Given the description of an element on the screen output the (x, y) to click on. 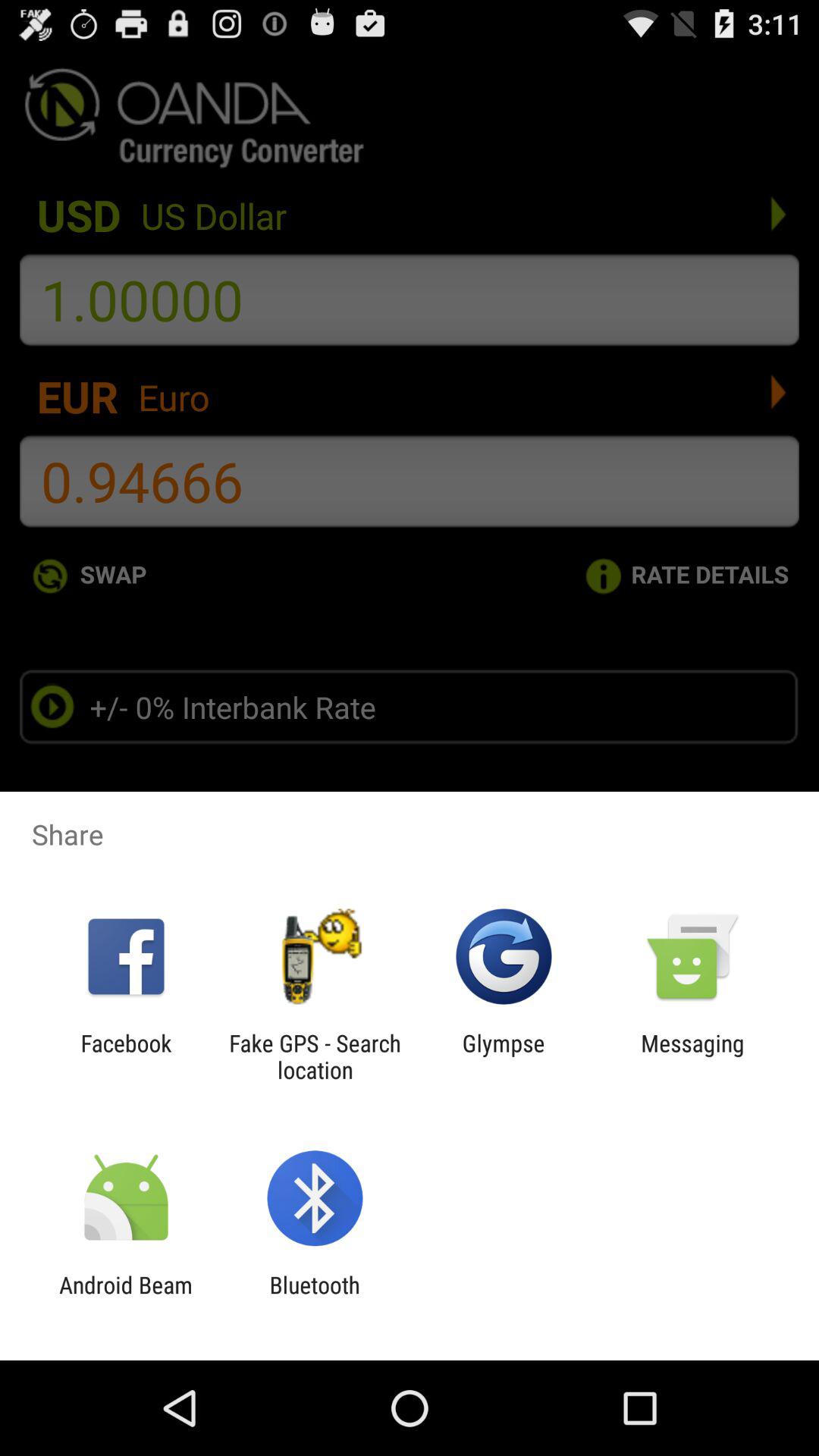
jump until messaging icon (692, 1056)
